Given the description of an element on the screen output the (x, y) to click on. 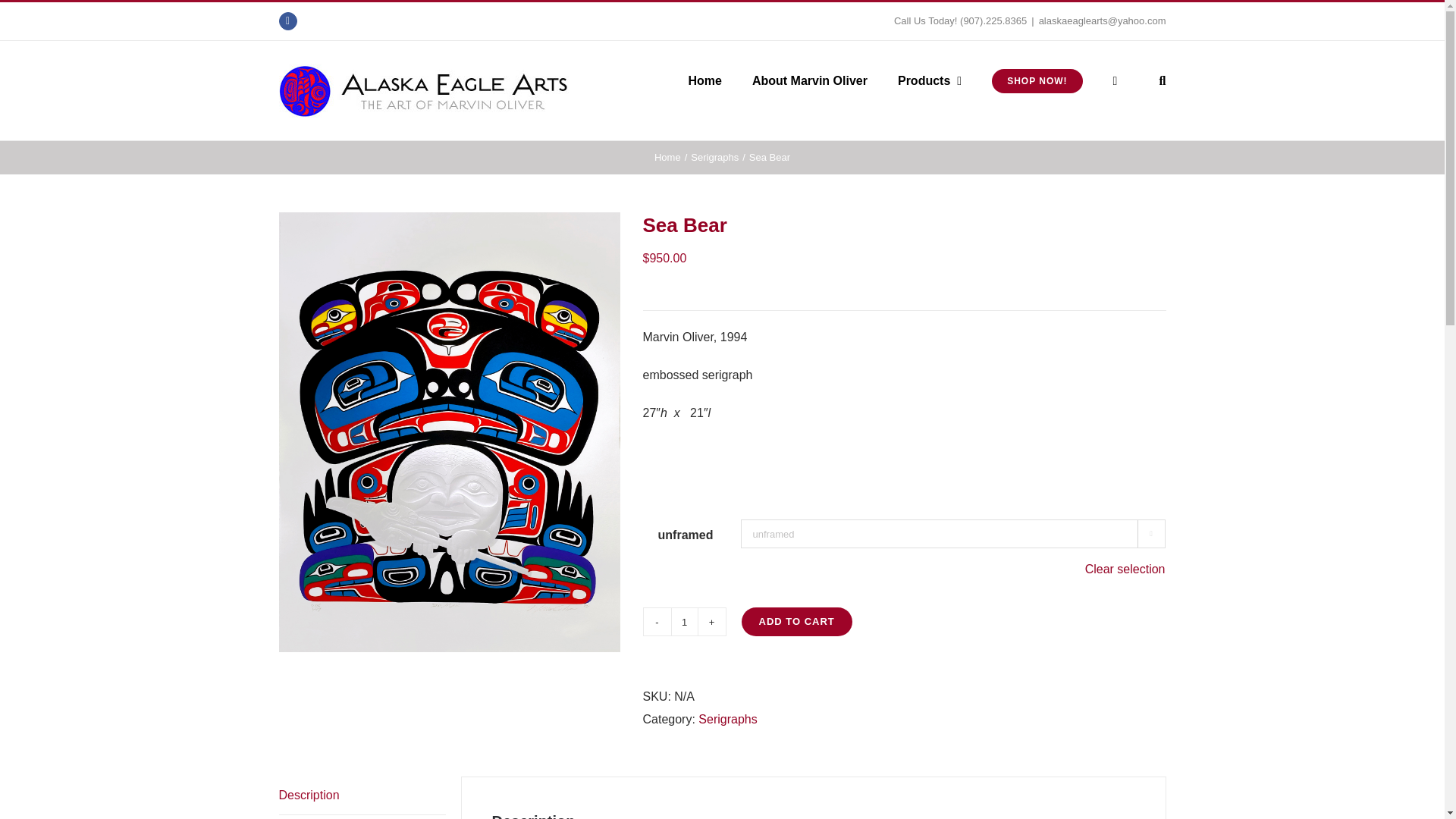
Serigraphs (727, 718)
ADD TO CART (796, 621)
SHOP NOW! (1036, 79)
Description (362, 795)
Products (929, 79)
- (656, 621)
Facebook (288, 21)
Serigraphs (714, 156)
About Marvin Oliver (809, 79)
1 (683, 621)
Home (703, 79)
Clear selection (1125, 568)
Search (1162, 79)
Additional information (362, 816)
Home (667, 156)
